Given the description of an element on the screen output the (x, y) to click on. 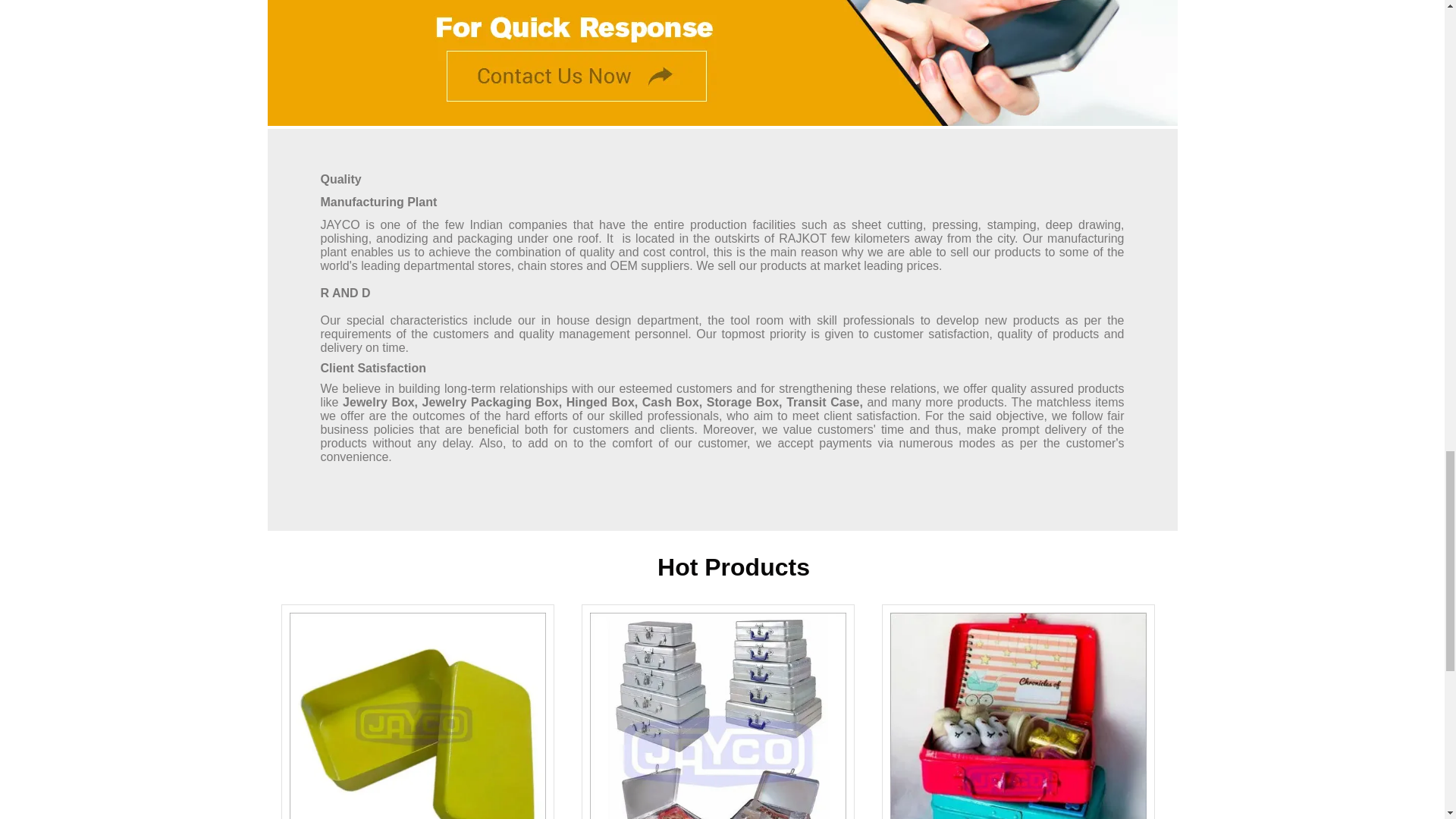
Gift Tin (417, 715)
Metal Gift Box (1018, 715)
Jewelry Packing Box (717, 715)
